Given the description of an element on the screen output the (x, y) to click on. 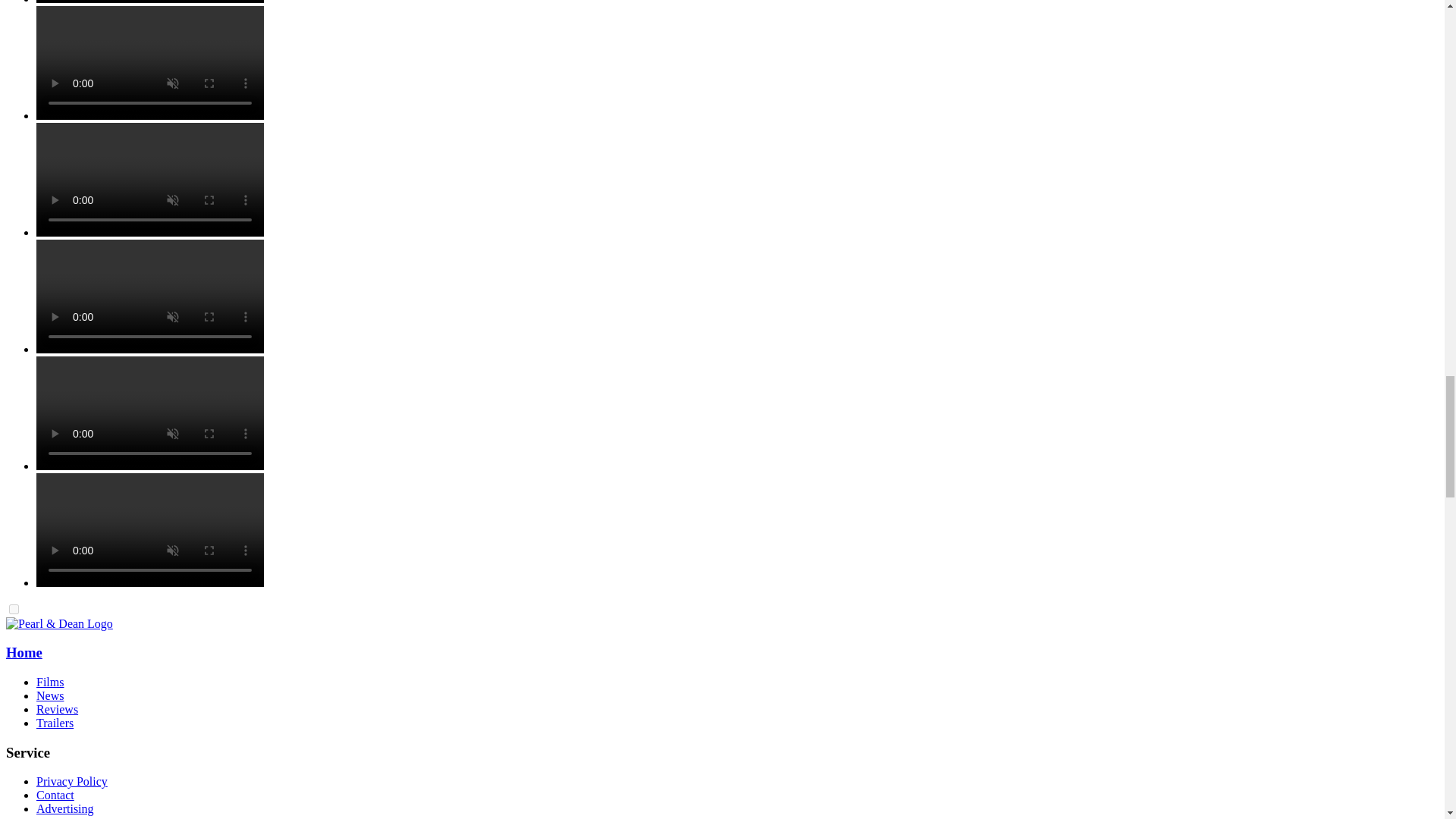
false (13, 609)
Home (23, 652)
Reviews (57, 708)
Films (50, 681)
Trailers (55, 722)
Advertising (65, 808)
Contact (55, 794)
Privacy Policy (71, 780)
News (50, 695)
